Given the description of an element on the screen output the (x, y) to click on. 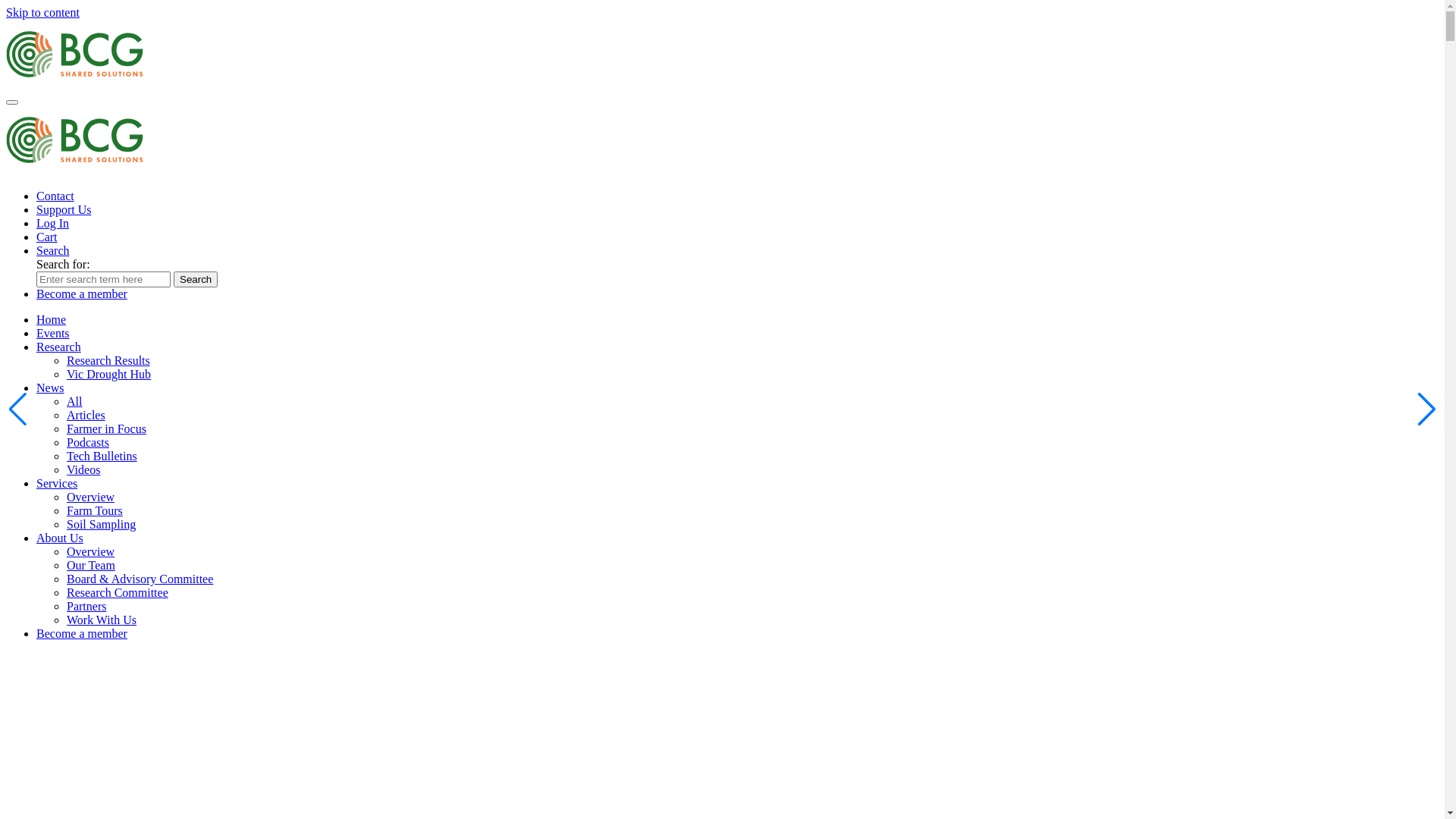
Soil Sampling Element type: text (100, 523)
Overview Element type: text (90, 551)
Farmer in Focus Element type: text (106, 428)
Research Committee Element type: text (117, 592)
Support Us Element type: text (63, 209)
Work With Us Element type: text (101, 619)
Tech Bulletins Element type: text (101, 455)
Home Element type: text (50, 319)
Search Element type: text (52, 250)
Podcasts Element type: text (87, 442)
Videos Element type: text (83, 469)
Become a member Element type: text (81, 633)
Partners Element type: text (86, 605)
Our Team Element type: text (90, 564)
Log In Element type: text (52, 222)
All Element type: text (73, 401)
News Element type: text (49, 387)
Articles Element type: text (85, 414)
Cart Element type: text (46, 236)
Overview Element type: text (90, 496)
Farm Tours Element type: text (94, 510)
Skip to content Element type: text (42, 12)
Become a member Element type: text (81, 293)
Board & Advisory Committee Element type: text (139, 578)
Research Results Element type: text (108, 360)
About Us Element type: text (59, 537)
Events Element type: text (52, 332)
Contact Element type: text (55, 195)
Vic Drought Hub Element type: text (108, 373)
Search Element type: text (195, 279)
Research Element type: text (58, 346)
Services Element type: text (56, 482)
